Given the description of an element on the screen output the (x, y) to click on. 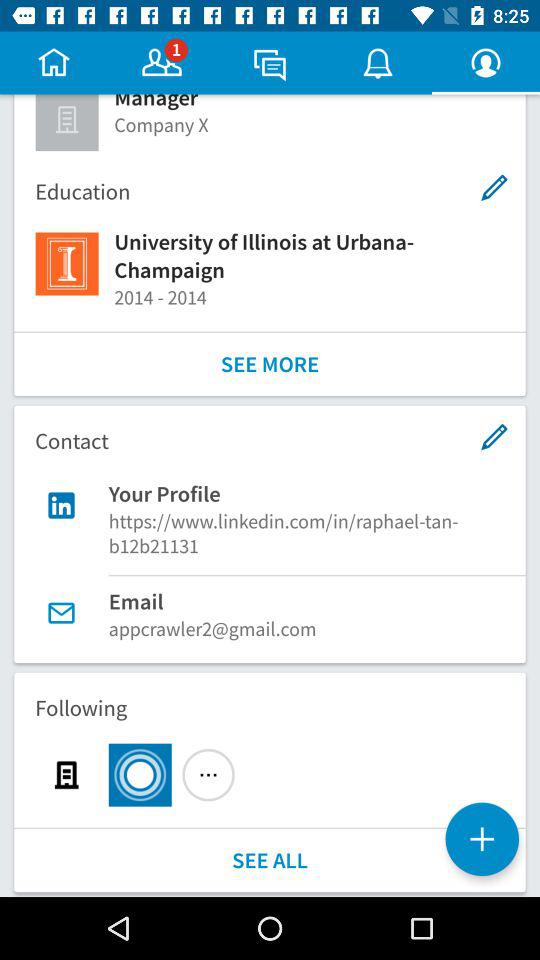
open the item below following (482, 839)
